Given the description of an element on the screen output the (x, y) to click on. 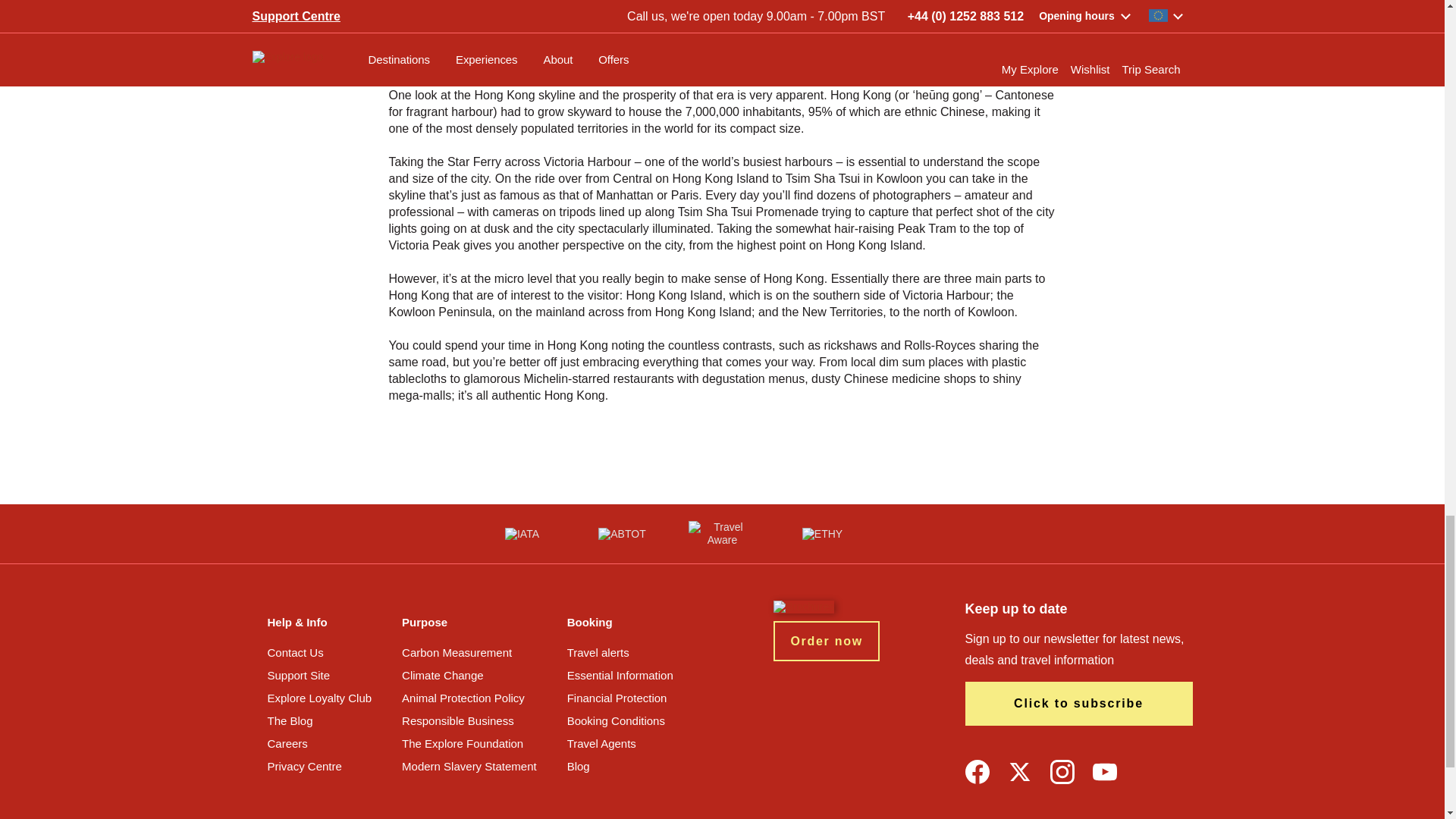
Instagram (1061, 771)
Twitter (1018, 771)
YouTube (1104, 771)
Facebook (975, 771)
